Given the description of an element on the screen output the (x, y) to click on. 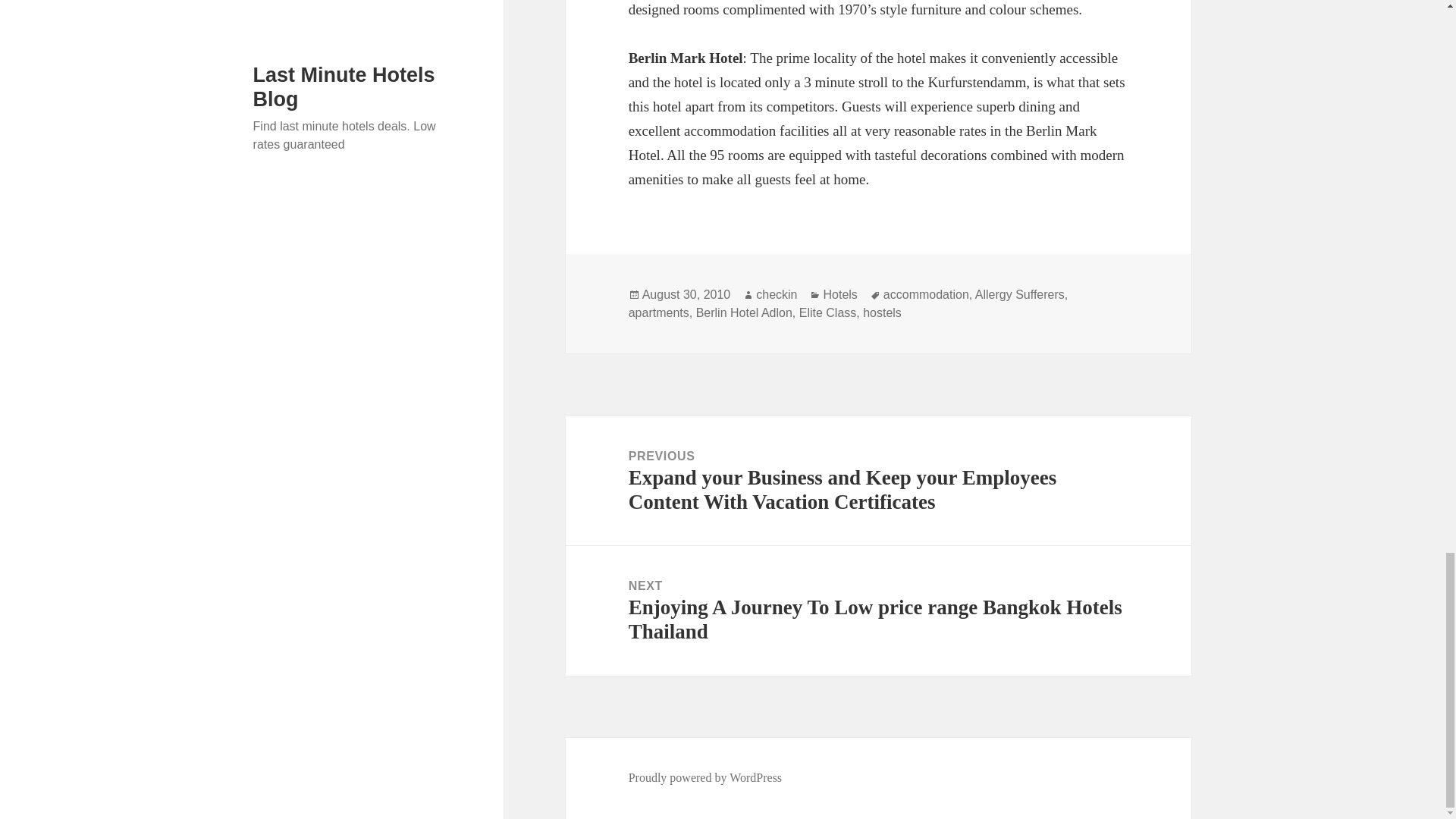
Proudly powered by WordPress (704, 777)
accommodation (926, 295)
checkin (775, 295)
August 30, 2010 (686, 295)
Berlin Hotel Adlon (743, 313)
hostels (882, 313)
Elite Class (828, 313)
Allergy Sufferers (1019, 295)
Hotels (839, 295)
apartments (658, 313)
